Given the description of an element on the screen output the (x, y) to click on. 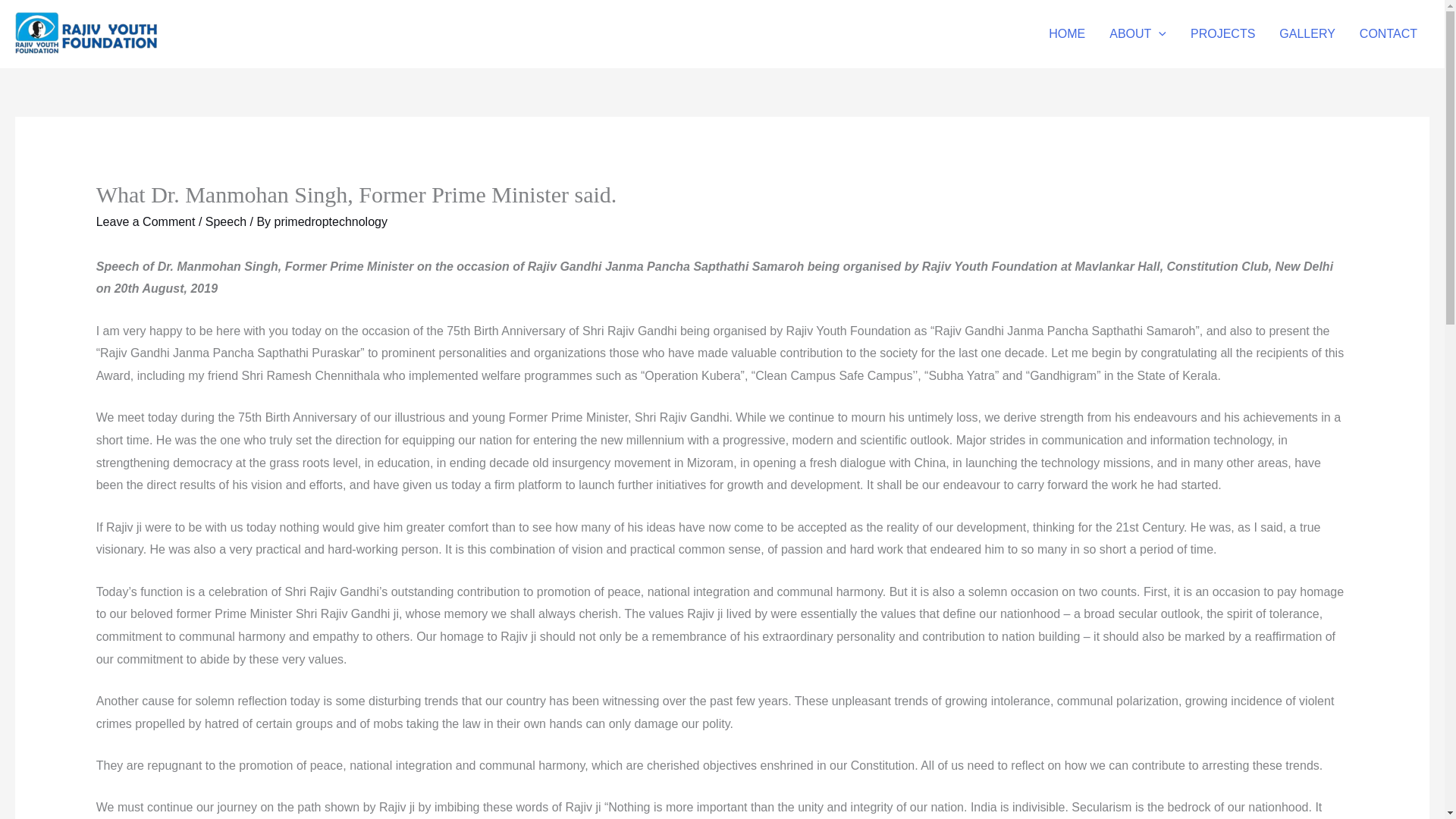
ABOUT (1137, 33)
primedroptechnology (331, 221)
CONTACT (1388, 33)
Leave a Comment (145, 221)
Speech (225, 221)
GALLERY (1307, 33)
View all posts by primedroptechnology (331, 221)
HOME (1066, 33)
PROJECTS (1221, 33)
